Given the description of an element on the screen output the (x, y) to click on. 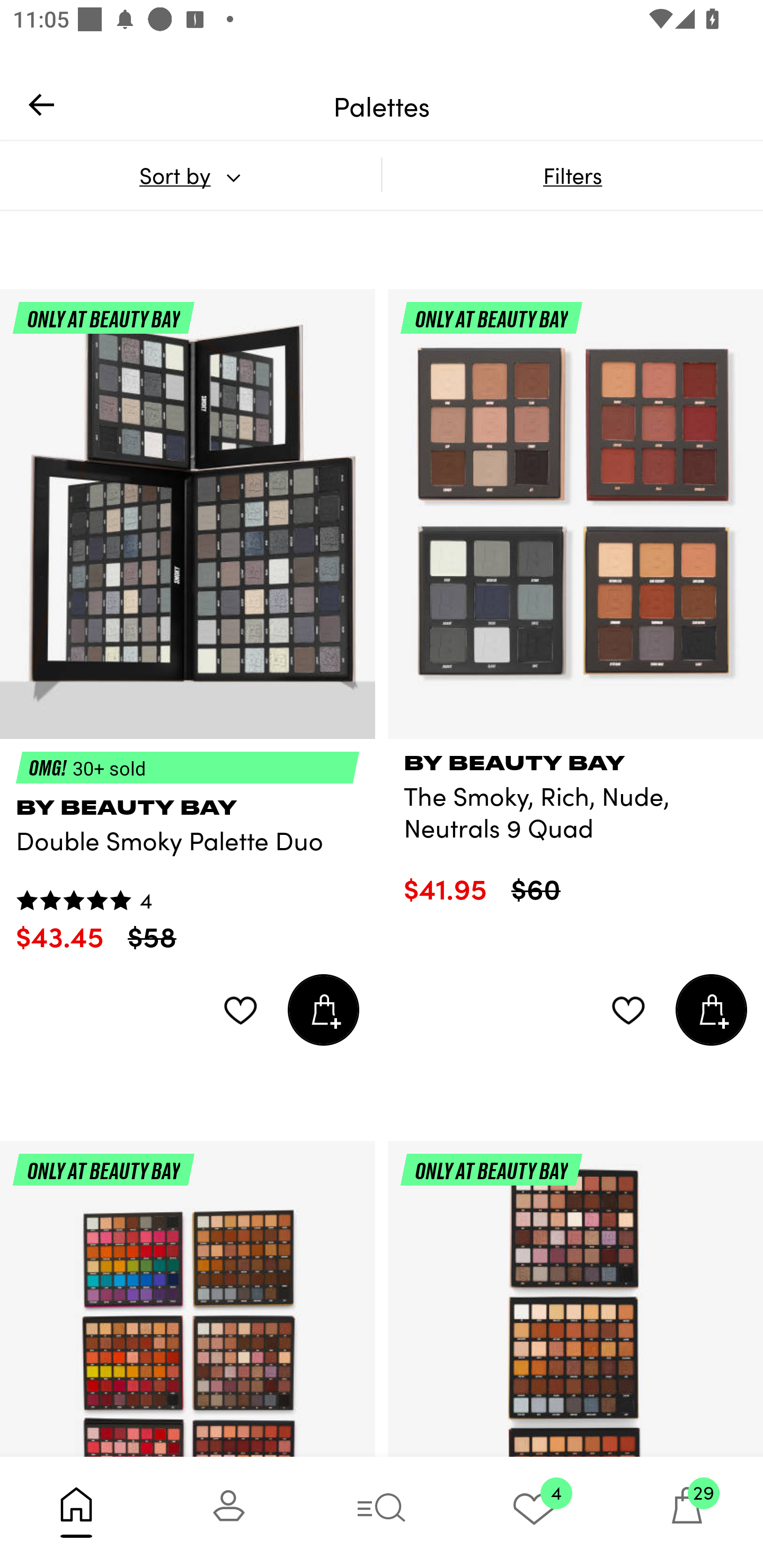
Sort by (190, 174)
Filters (572, 174)
4 (533, 1512)
29 (686, 1512)
